Given the description of an element on the screen output the (x, y) to click on. 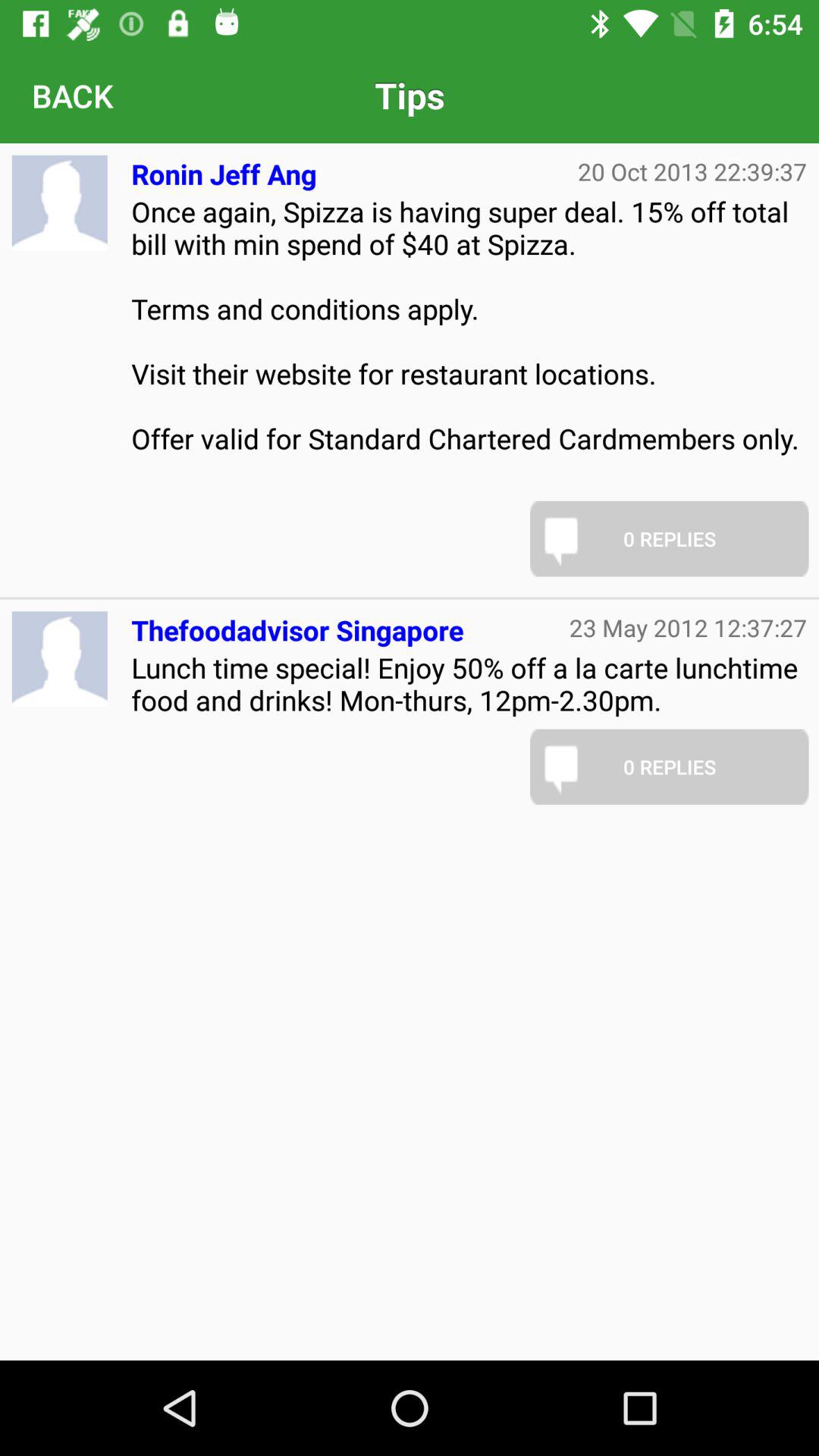
open the icon next to the 20 oct 2013 (223, 167)
